Given the description of an element on the screen output the (x, y) to click on. 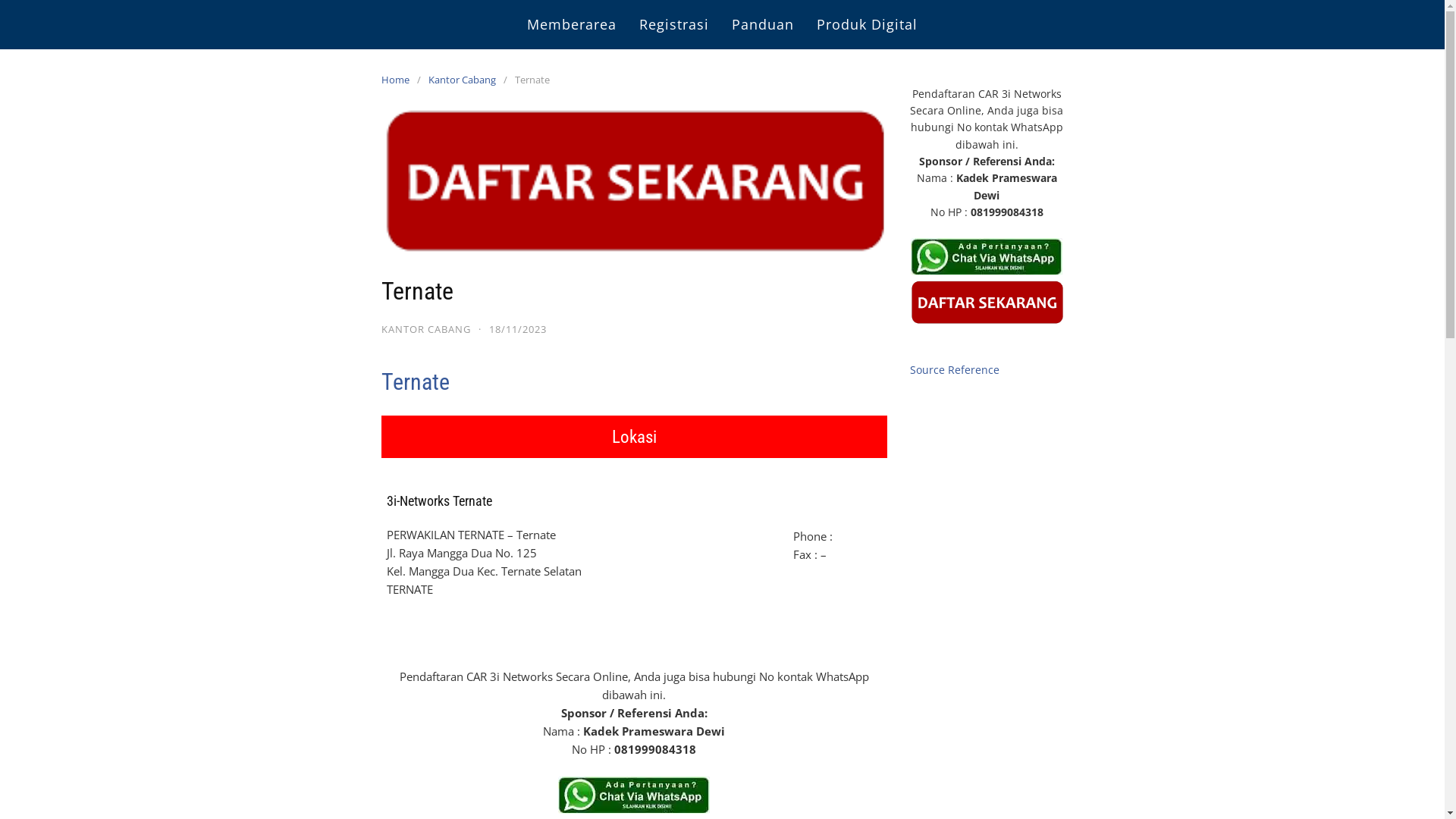
Reference Element type: text (973, 369)
Ternate 1 Element type: hover (633, 794)
Registrasi Element type: text (673, 24)
Home Element type: text (398, 79)
Kantor Cabang Element type: text (464, 79)
Panduan Element type: text (762, 24)
KANTOR CABANG Element type: text (425, 328)
Memberarea Element type: text (571, 24)
Produk Digital Element type: text (866, 24)
Ternate Element type: text (414, 381)
Source Element type: text (927, 369)
